Given the description of an element on the screen output the (x, y) to click on. 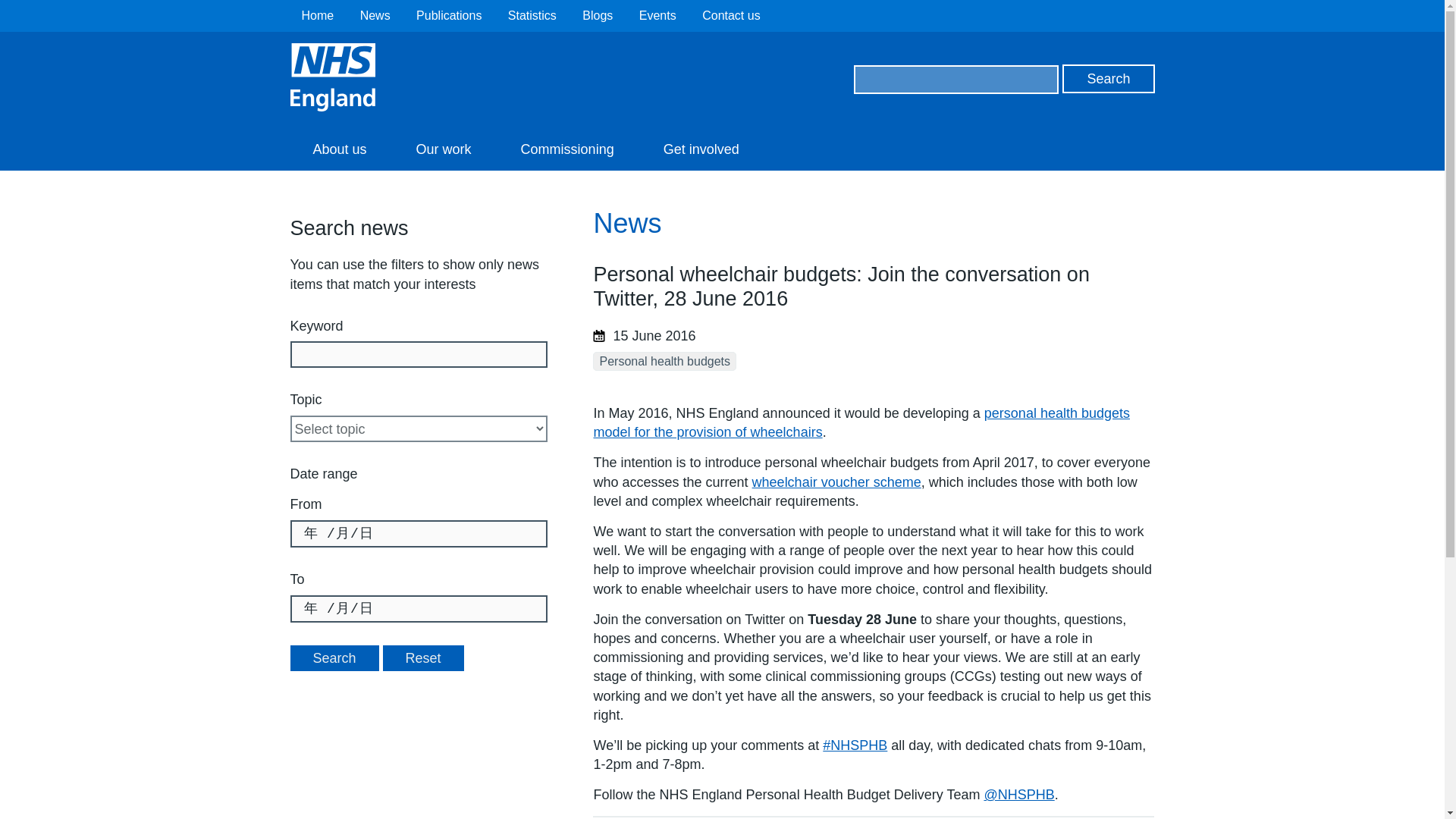
Get involved (700, 149)
Personal health budgets (664, 361)
Home (317, 15)
News (374, 15)
Get involved (700, 149)
Blogs (597, 15)
Home (317, 15)
Publications (448, 15)
Search (1108, 78)
